Given the description of an element on the screen output the (x, y) to click on. 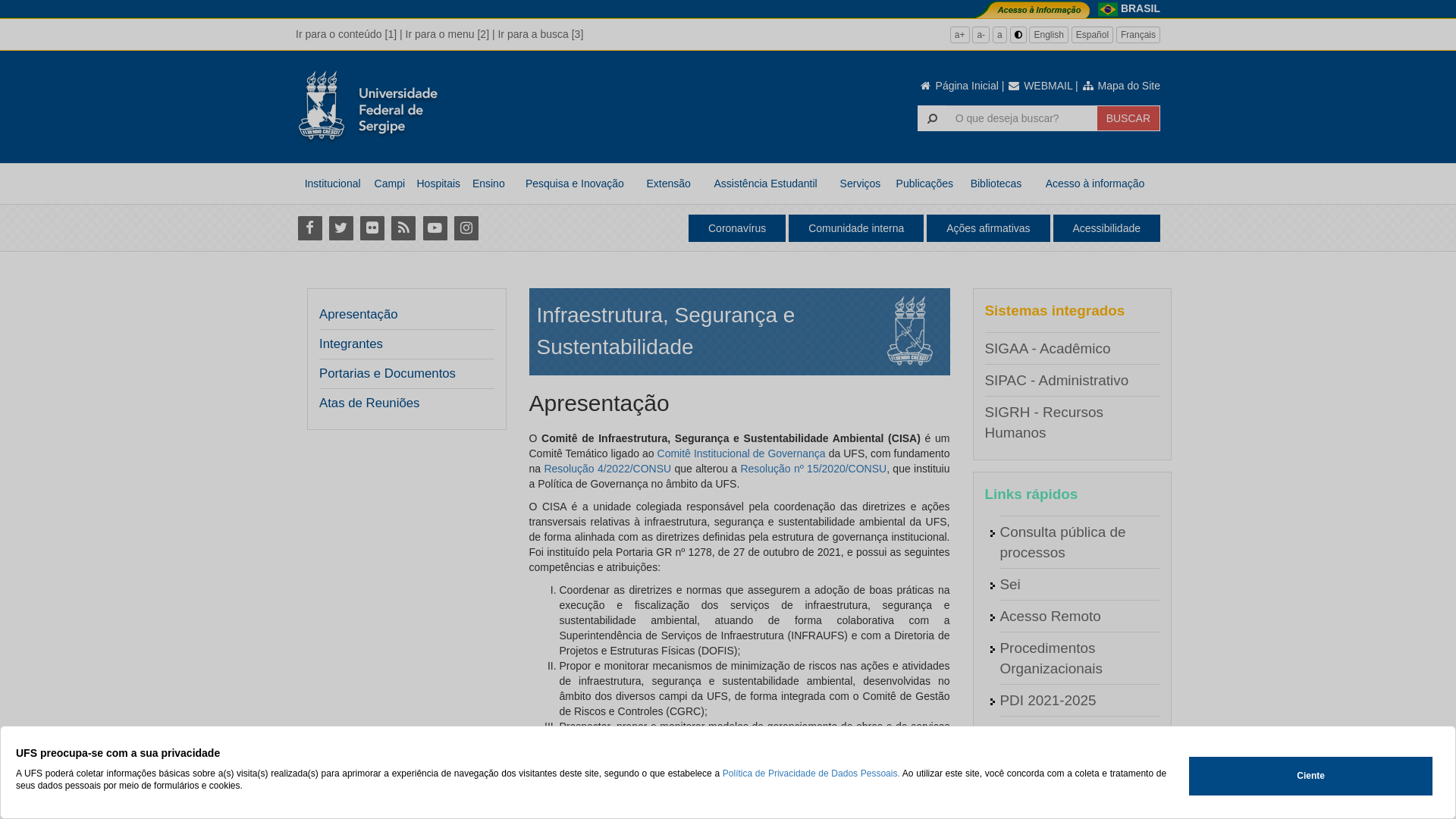
Integrantes Element type: text (350, 343)
English Element type: text (1048, 34)
SIPAC - Administrativo Element type: text (1056, 380)
BRASIL Element type: text (1140, 8)
PDI 2021-2025 Element type: text (1047, 700)
Acesso Remoto Element type: text (1049, 616)
Acessibilidade Element type: text (1106, 227)
Procedimentos Organizacionais Element type: text (1050, 658)
Portarias e Documentos Element type: text (387, 373)
SIGRH - Recursos Humanos Element type: text (1043, 422)
Ir para o menu [2] Element type: text (447, 34)
Institucional Element type: text (332, 183)
Agenda do Reitor Element type: text (1054, 732)
a Element type: text (999, 34)
Agenda do Vice-Reitor Element type: text (1071, 763)
Flickr Element type: text (371, 227)
Twitter Element type: text (340, 227)
Youtube Element type: text (434, 227)
Telefones Element type: text (1029, 795)
Campi Element type: text (389, 183)
Mapa do Site Element type: text (1120, 85)
Facebook Element type: text (309, 227)
a- Element type: text (980, 34)
Sei Element type: text (1009, 584)
Ir para a busca [3] Element type: text (540, 34)
Bibliotecas Element type: text (995, 183)
WEBMAIL Element type: text (1039, 85)
Instagram Element type: text (465, 227)
Comunidade interna Element type: text (855, 227)
Hospitais Element type: text (438, 183)
Ensino Element type: text (488, 183)
a+ Element type: text (959, 34)
RSS Element type: text (403, 227)
BUSCAR Element type: text (1128, 118)
